Given the description of an element on the screen output the (x, y) to click on. 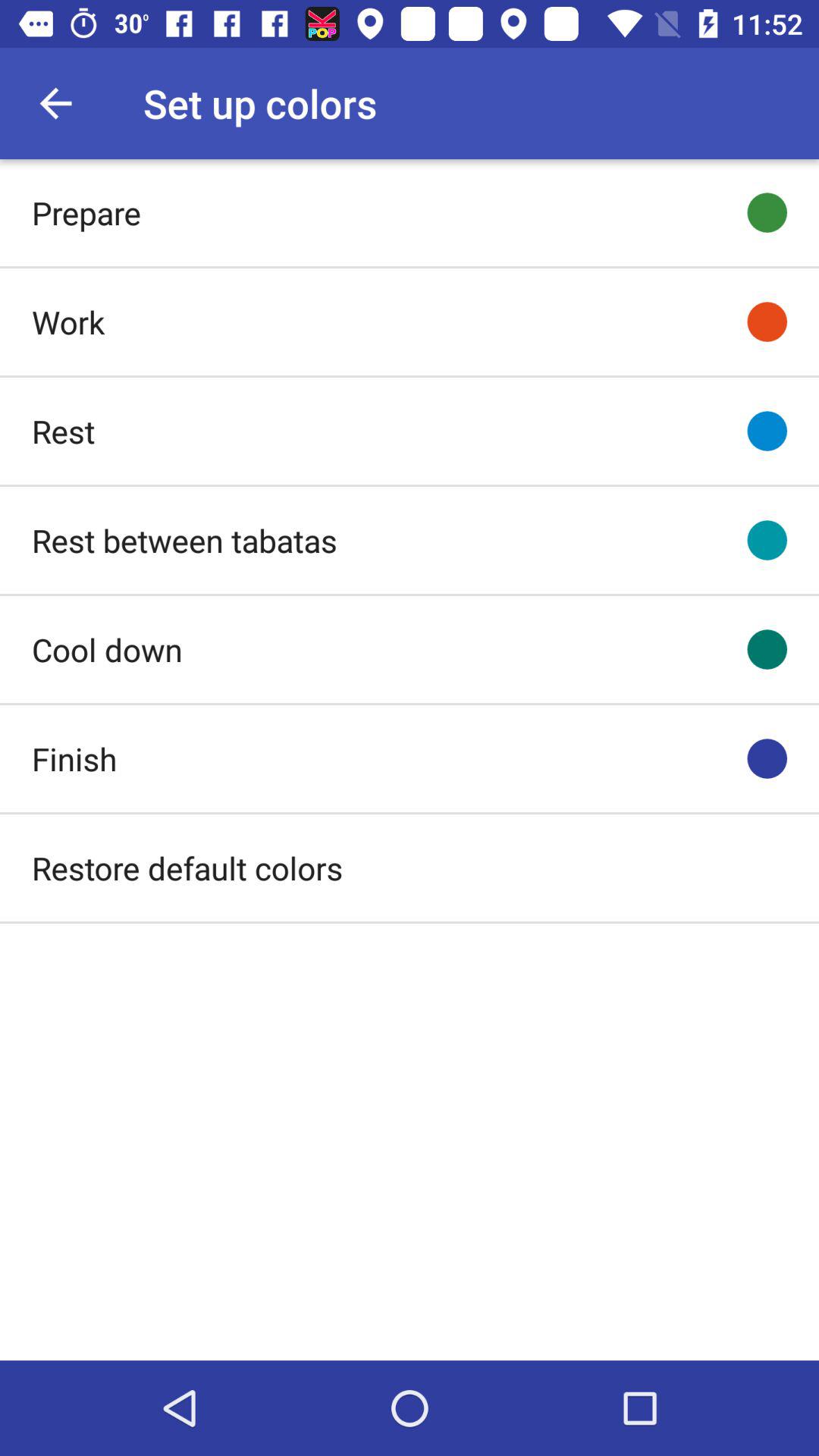
select item to the right of the rest (767, 431)
